Given the description of an element on the screen output the (x, y) to click on. 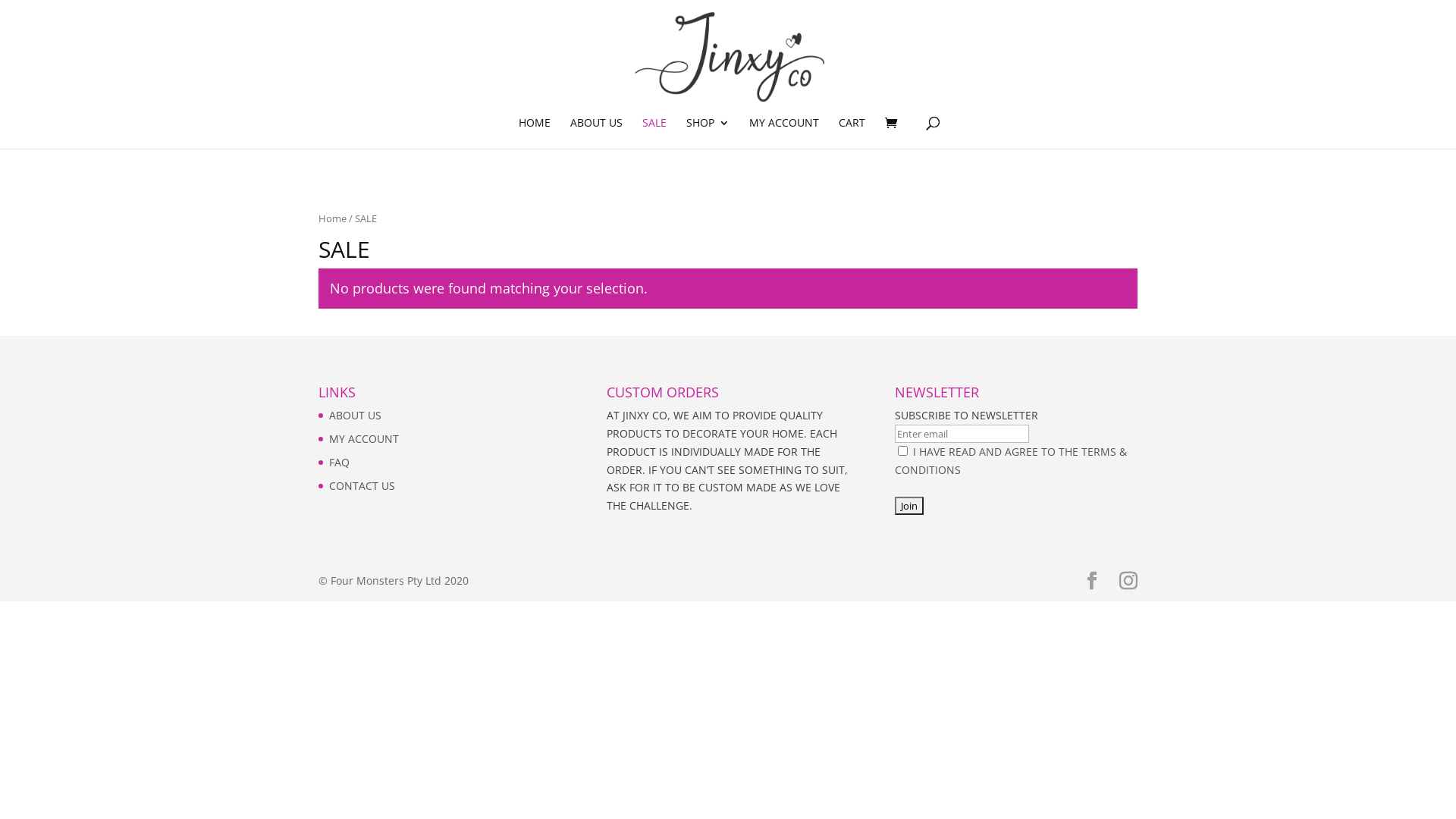
CONTACT US Element type: text (362, 485)
CART Element type: text (851, 132)
MY ACCOUNT Element type: text (784, 132)
HOME Element type: text (534, 132)
SALE Element type: text (653, 132)
I HAVE READ AND AGREE TO THE TERMS & CONDITIONS Element type: text (1010, 460)
SHOP Element type: text (706, 132)
FAQ Element type: text (339, 462)
Join Element type: text (908, 505)
Home Element type: text (332, 218)
ABOUT US Element type: text (355, 414)
MY ACCOUNT Element type: text (363, 438)
ABOUT US Element type: text (596, 132)
